Given the description of an element on the screen output the (x, y) to click on. 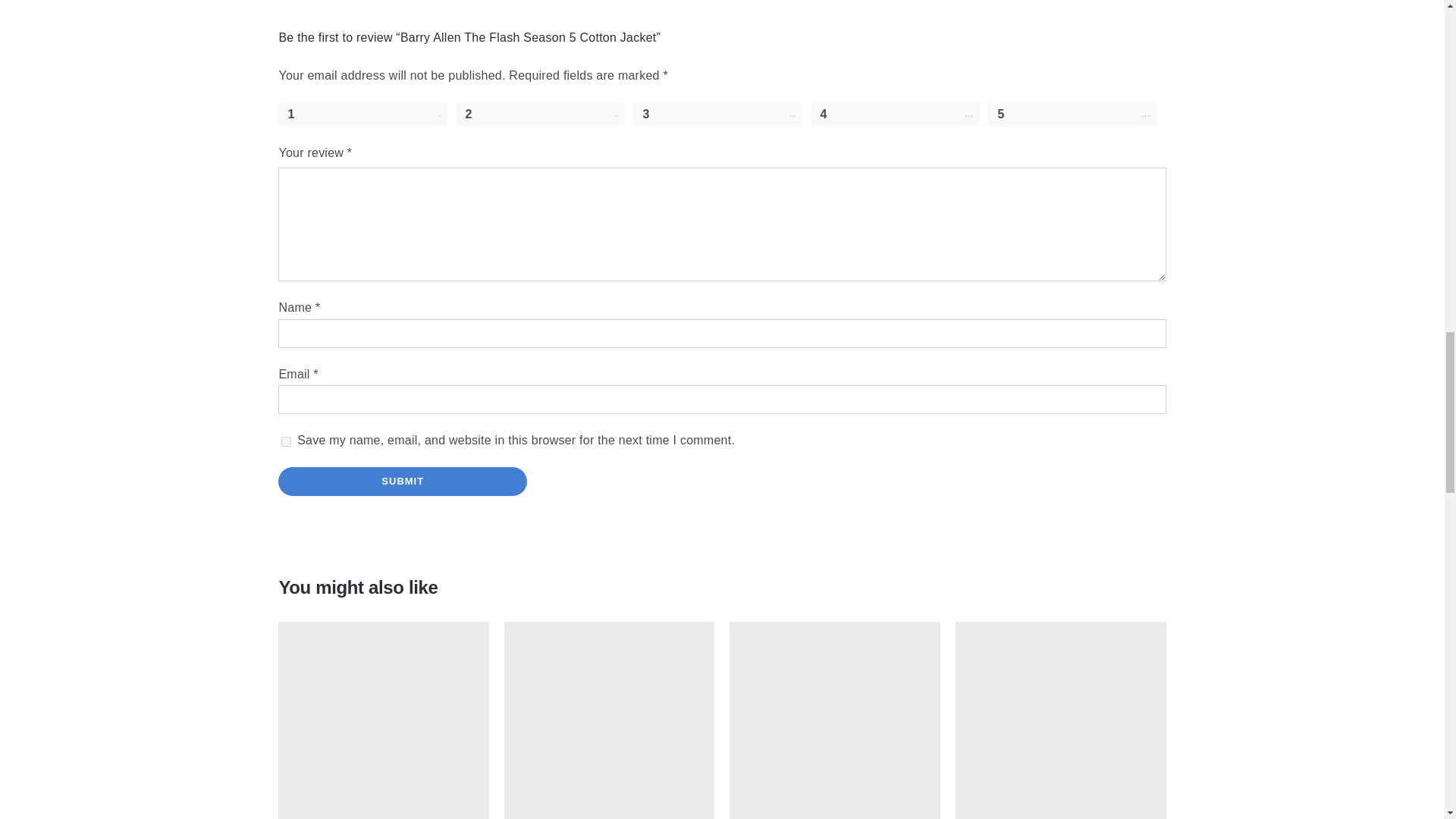
yes (286, 441)
Submit (402, 481)
